Given the description of an element on the screen output the (x, y) to click on. 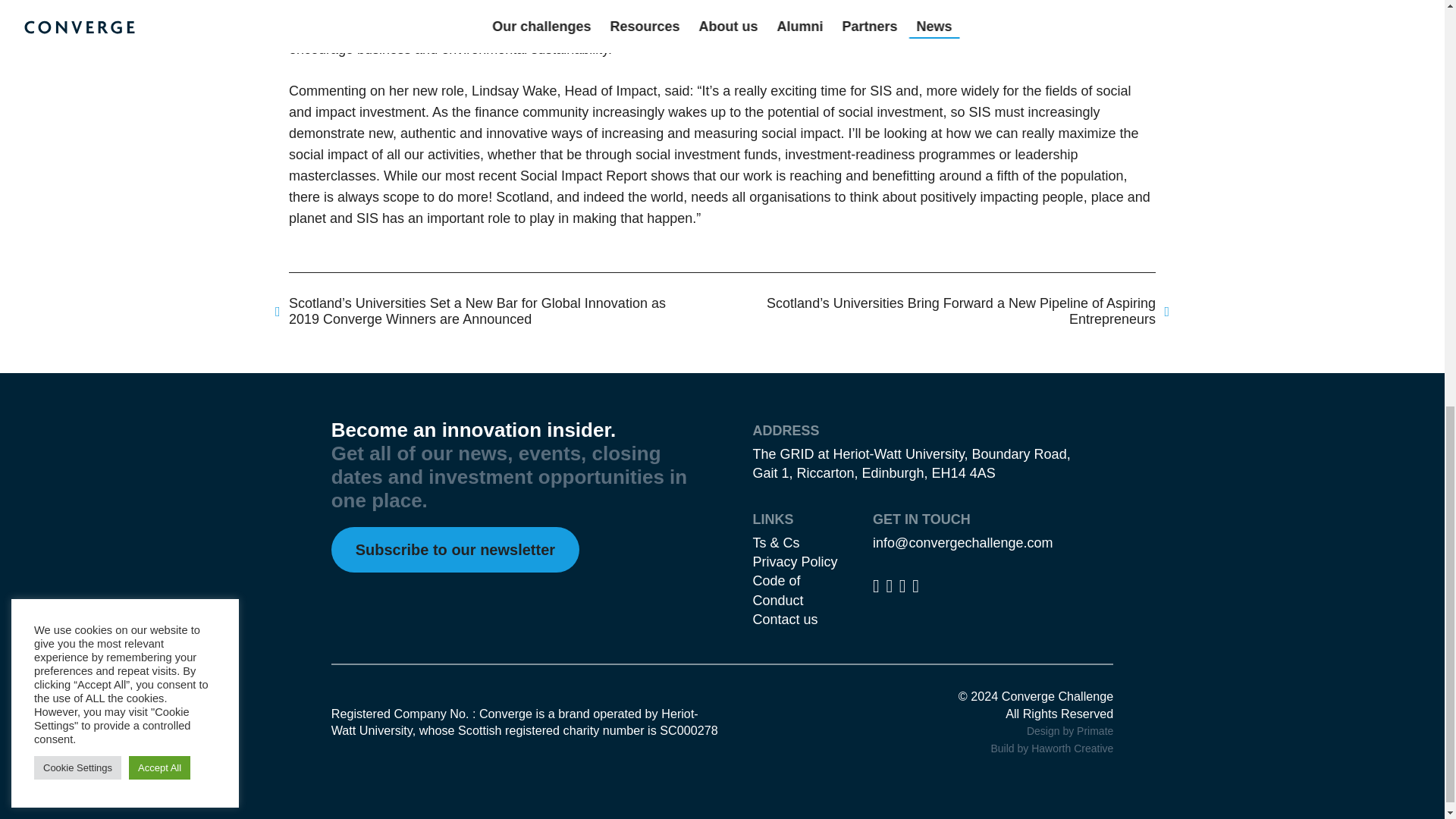
Code of Conduct (777, 590)
Design by Primate (1069, 730)
Contact us (784, 619)
Build by Haworth Creative (1051, 748)
Subscribe to our newsletter (455, 548)
Privacy Policy (794, 561)
